Given the description of an element on the screen output the (x, y) to click on. 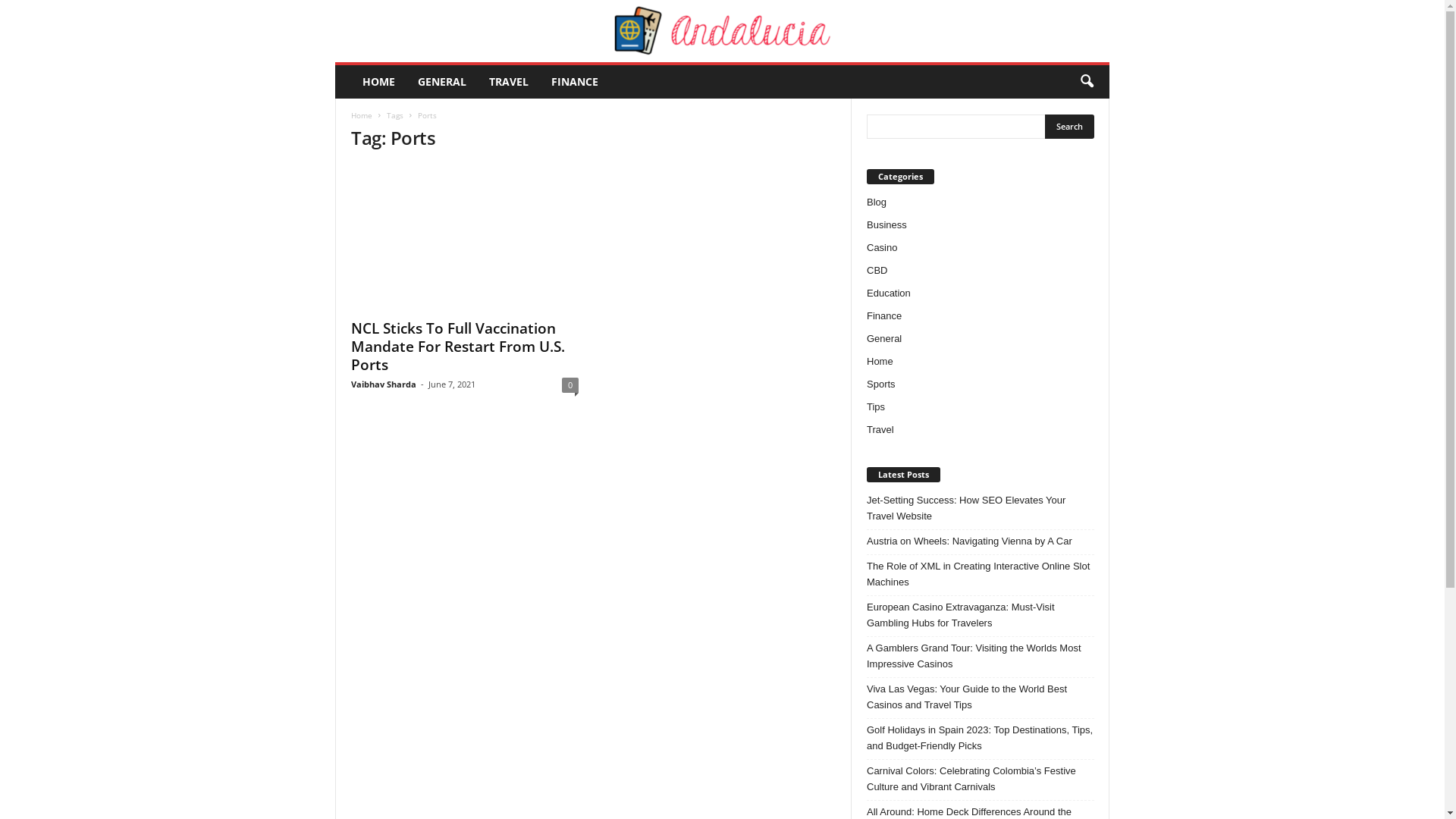
TRAVEL Element type: text (508, 81)
HOME Element type: text (378, 81)
General Element type: text (883, 338)
Home Element type: text (361, 114)
Business Element type: text (886, 224)
Travel Element type: text (880, 429)
GENERAL Element type: text (441, 81)
Jet-Setting Success: How SEO Elevates Your Travel Website Element type: text (980, 508)
Vaibhav Sharda Element type: text (383, 383)
Casino Element type: text (881, 247)
Finance Element type: text (883, 315)
CBD Element type: text (876, 270)
Blog Element type: text (876, 201)
Sports Element type: text (880, 383)
Education Element type: text (888, 292)
Home Element type: text (879, 361)
The Role of XML in Creating Interactive Online Slot Machines Element type: text (980, 573)
Andalucia Element type: text (722, 31)
Austria on Wheels: Navigating Vienna by A Car Element type: text (980, 541)
Tips Element type: text (875, 406)
FINANCE Element type: text (574, 81)
Search Element type: text (1069, 126)
0 Element type: text (569, 384)
